Given the description of an element on the screen output the (x, y) to click on. 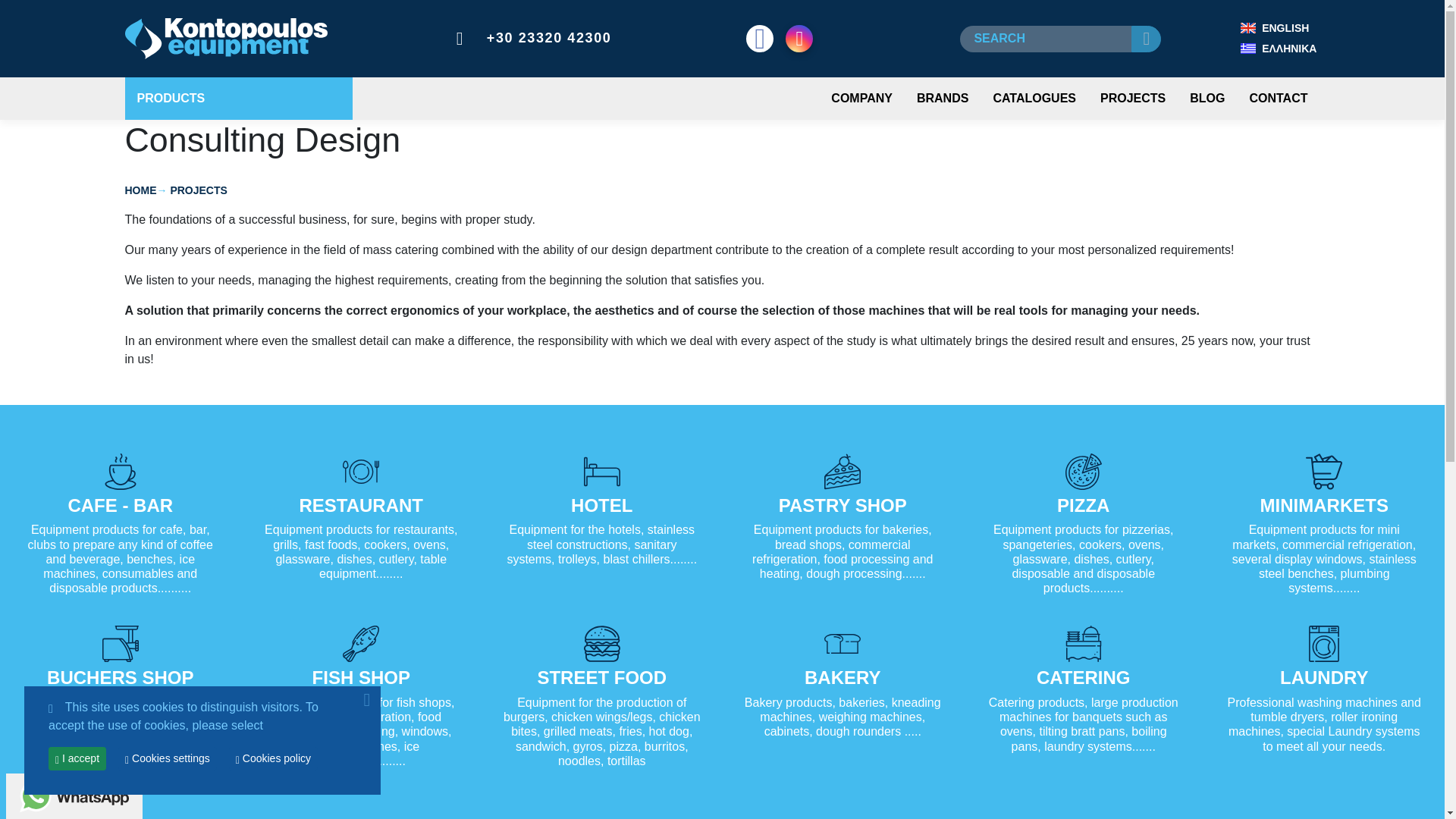
PRODUCTS (237, 97)
ENGLISH (1278, 27)
